Given the description of an element on the screen output the (x, y) to click on. 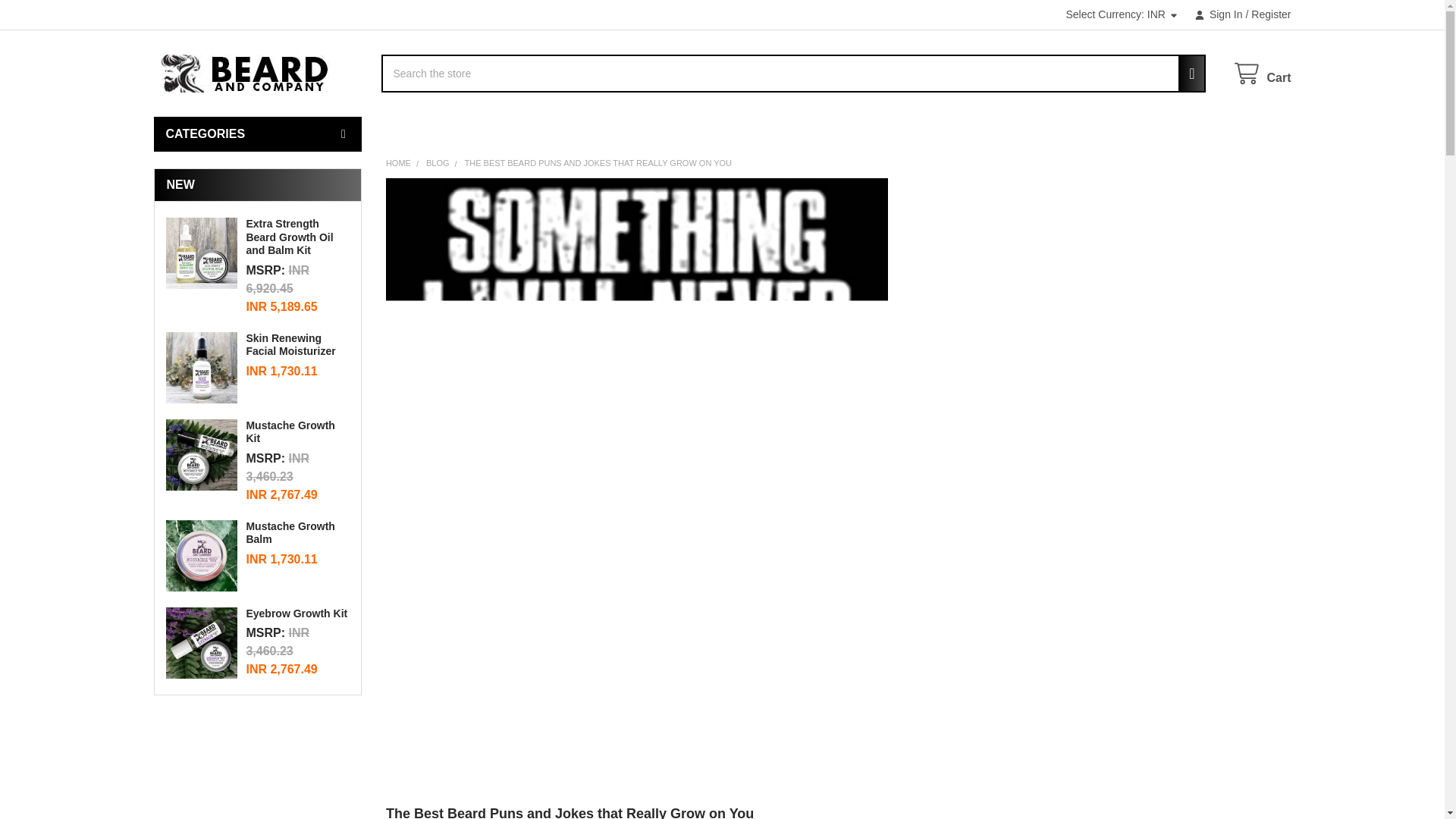
beard and company mustache growth balm (201, 555)
Sign In (1218, 14)
BEARD AND COMPANY (247, 73)
Cart (1261, 73)
Search (1187, 73)
beard and company eyebrow growth kit (201, 642)
Register (1266, 14)
CATEGORIES (256, 134)
beard and company skin renewing facial moisturizer (201, 367)
